Given the description of an element on the screen output the (x, y) to click on. 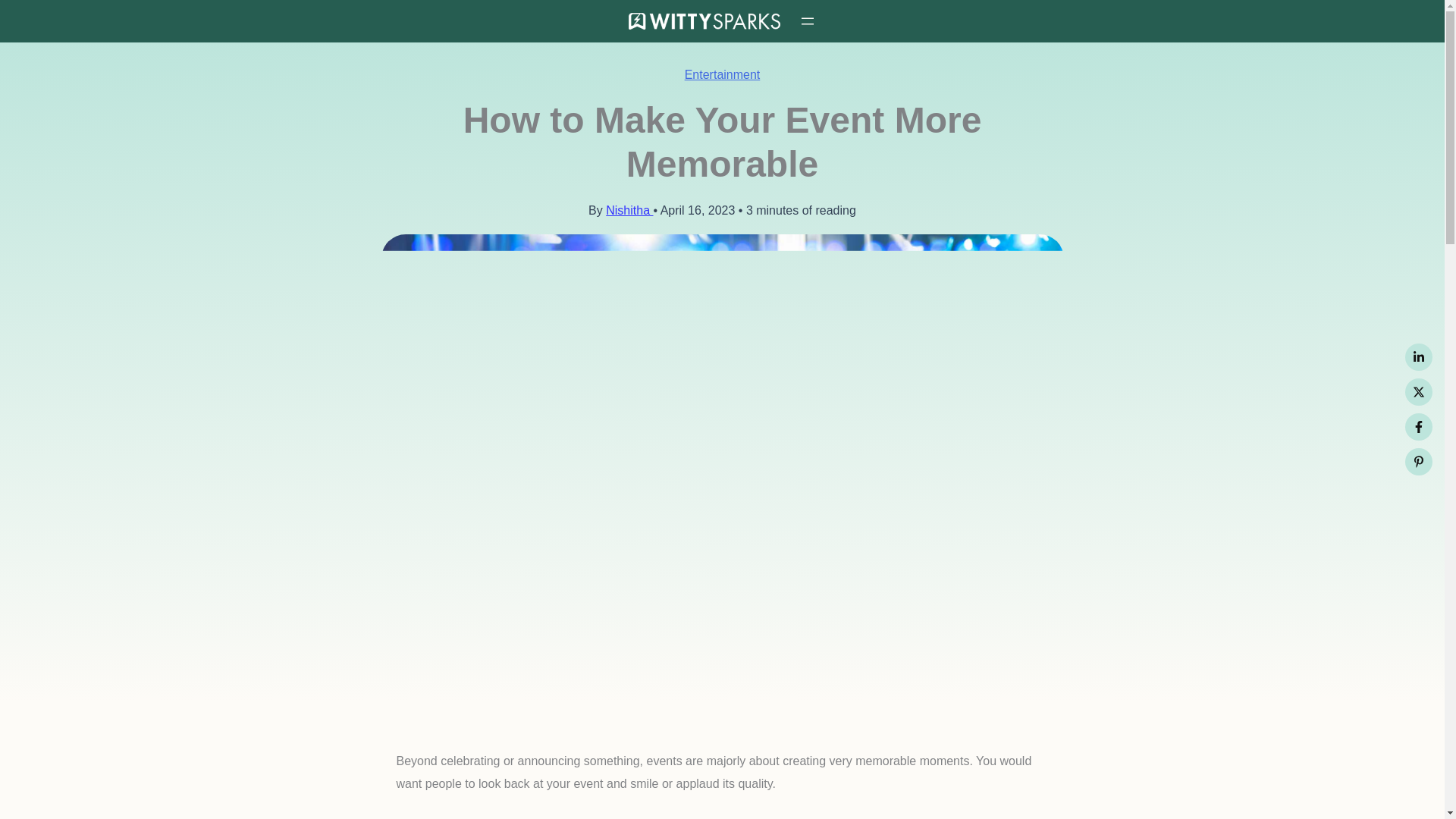
Nishitha (628, 210)
View all posts by Nishitha (628, 210)
Entertainment (722, 74)
